Given the description of an element on the screen output the (x, y) to click on. 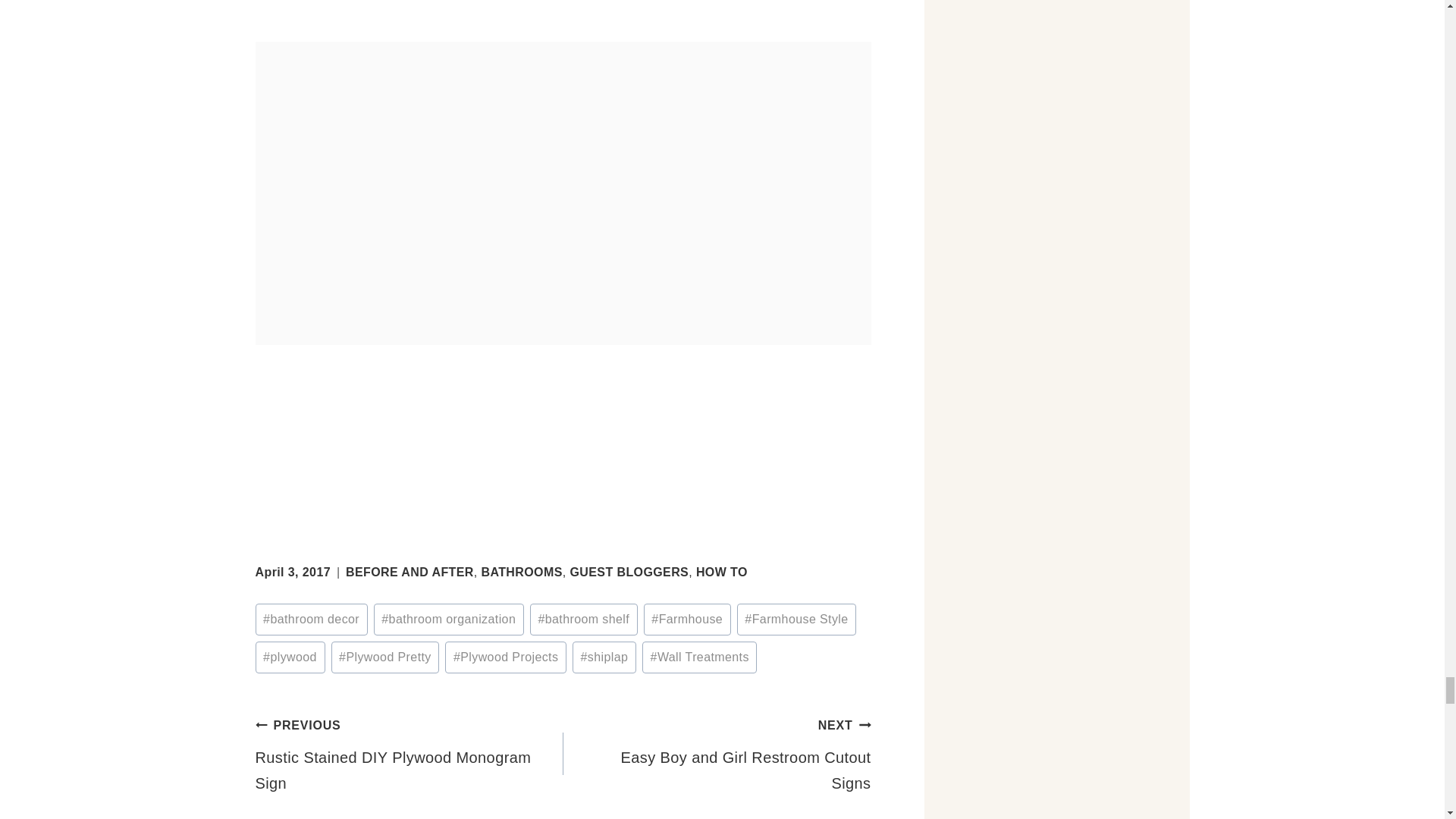
bathroom decor (310, 619)
bathroom shelf (583, 619)
shiplap (604, 657)
Wall Treatments (699, 657)
plywood (289, 657)
Plywood Pretty (385, 657)
Farmhouse (686, 619)
Farmhouse Style (796, 619)
Plywood Projects (505, 657)
bathroom organization (449, 619)
